Given the description of an element on the screen output the (x, y) to click on. 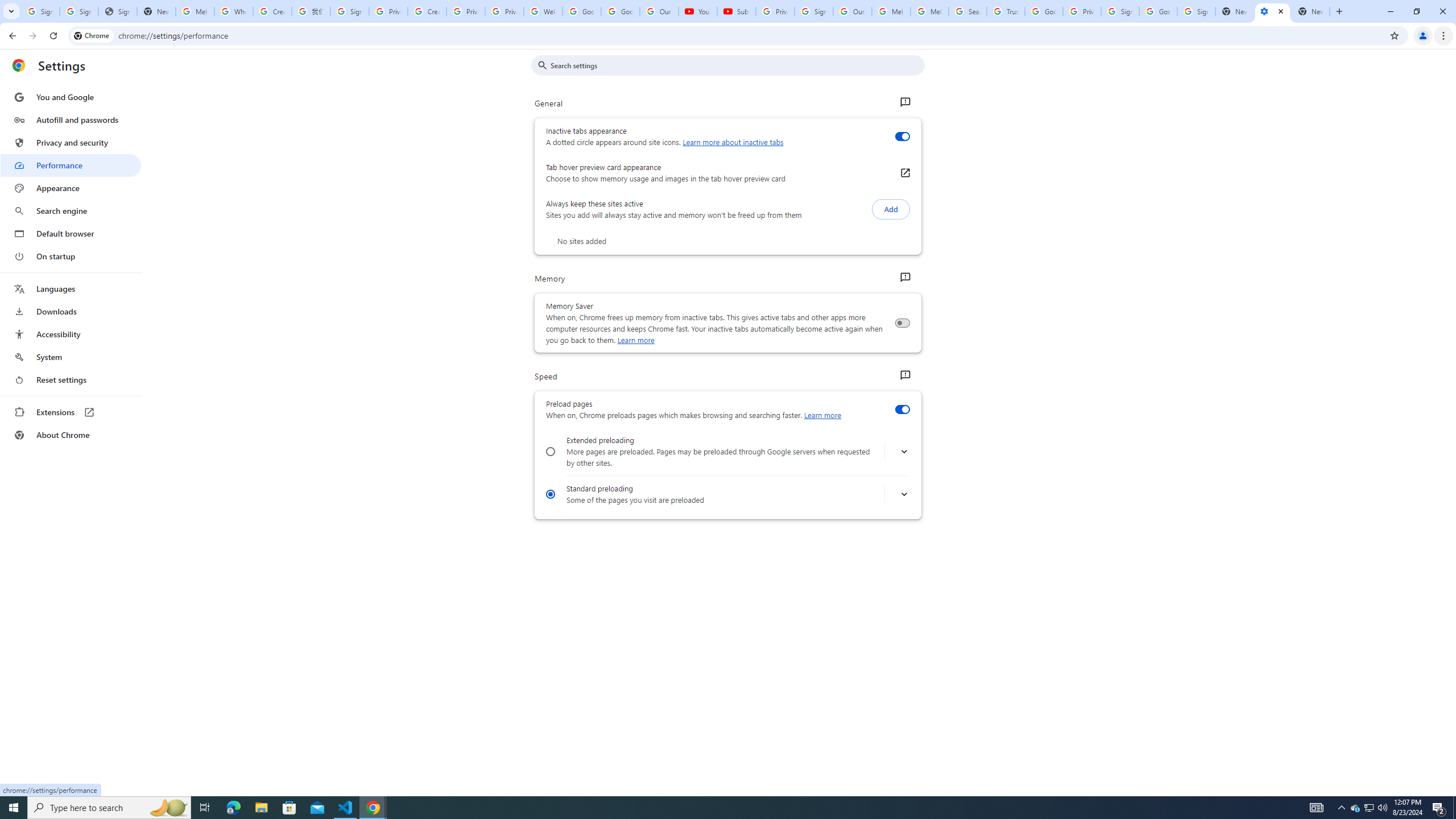
Settings - Performance (1272, 11)
Sign in - Google Accounts (349, 11)
YouTube (697, 11)
Languages (70, 288)
Extensions (70, 412)
Memory Saver (901, 323)
Google Ads - Sign in (1043, 11)
